Given the description of an element on the screen output the (x, y) to click on. 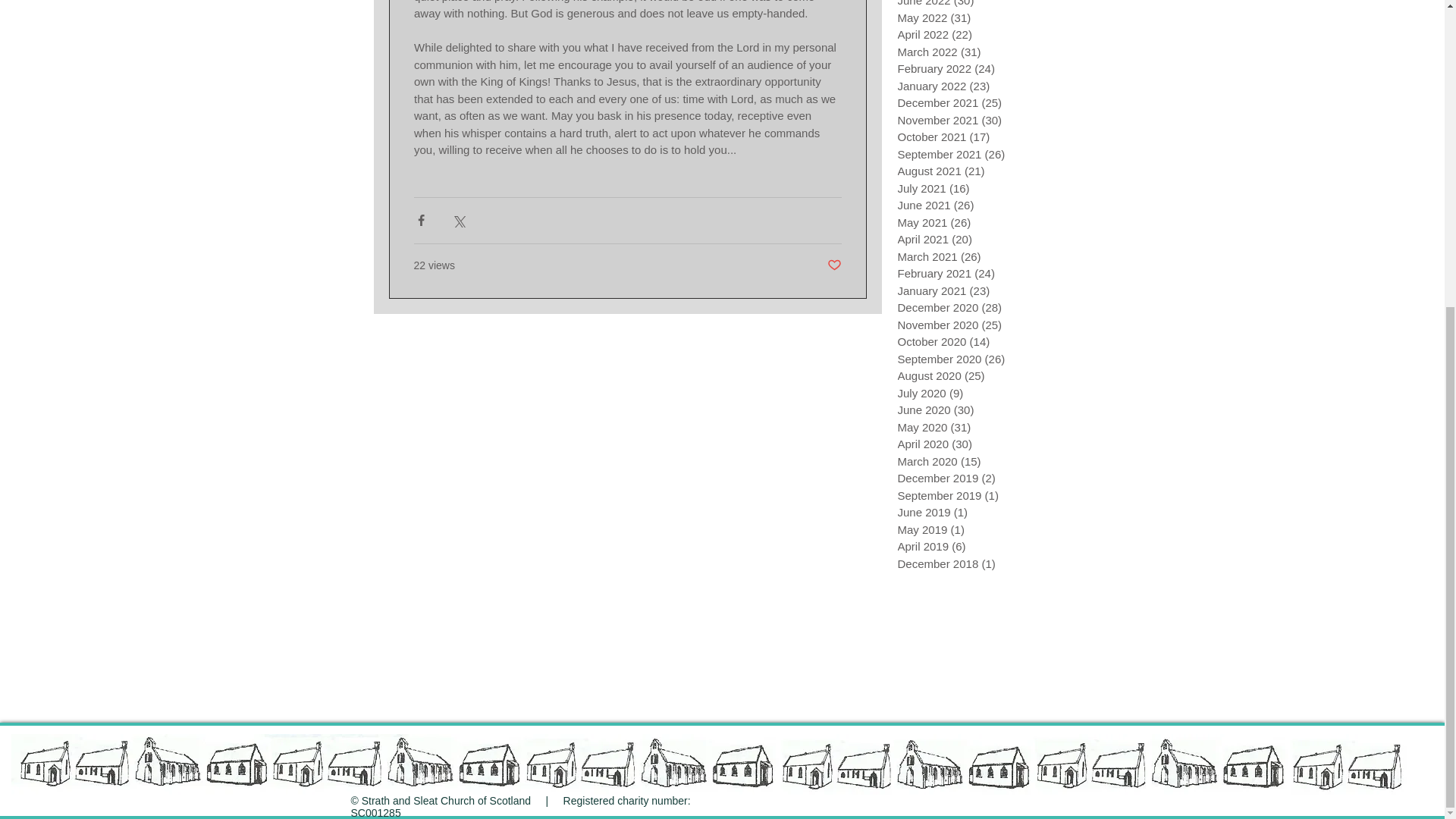
Churches sketches.jpg (712, 763)
Post not marked as liked (834, 265)
